Given the description of an element on the screen output the (x, y) to click on. 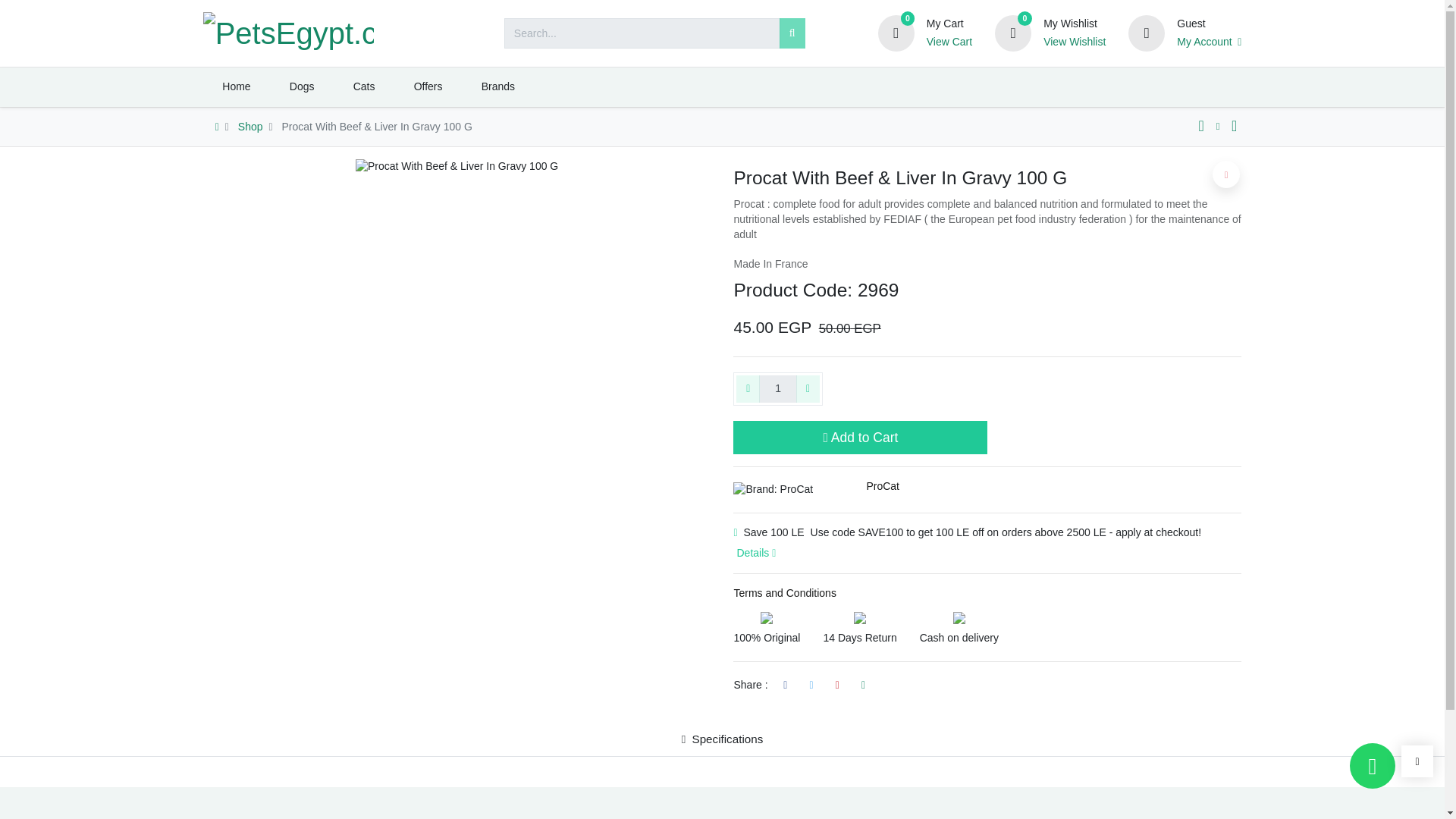
View Wishlist (1074, 42)
Cats (363, 87)
ProCat (882, 485)
My Account (1208, 42)
Dogs (301, 87)
Brands (497, 87)
View Cart (949, 42)
Offers (427, 87)
Home (236, 87)
Shop (250, 126)
